Given the description of an element on the screen output the (x, y) to click on. 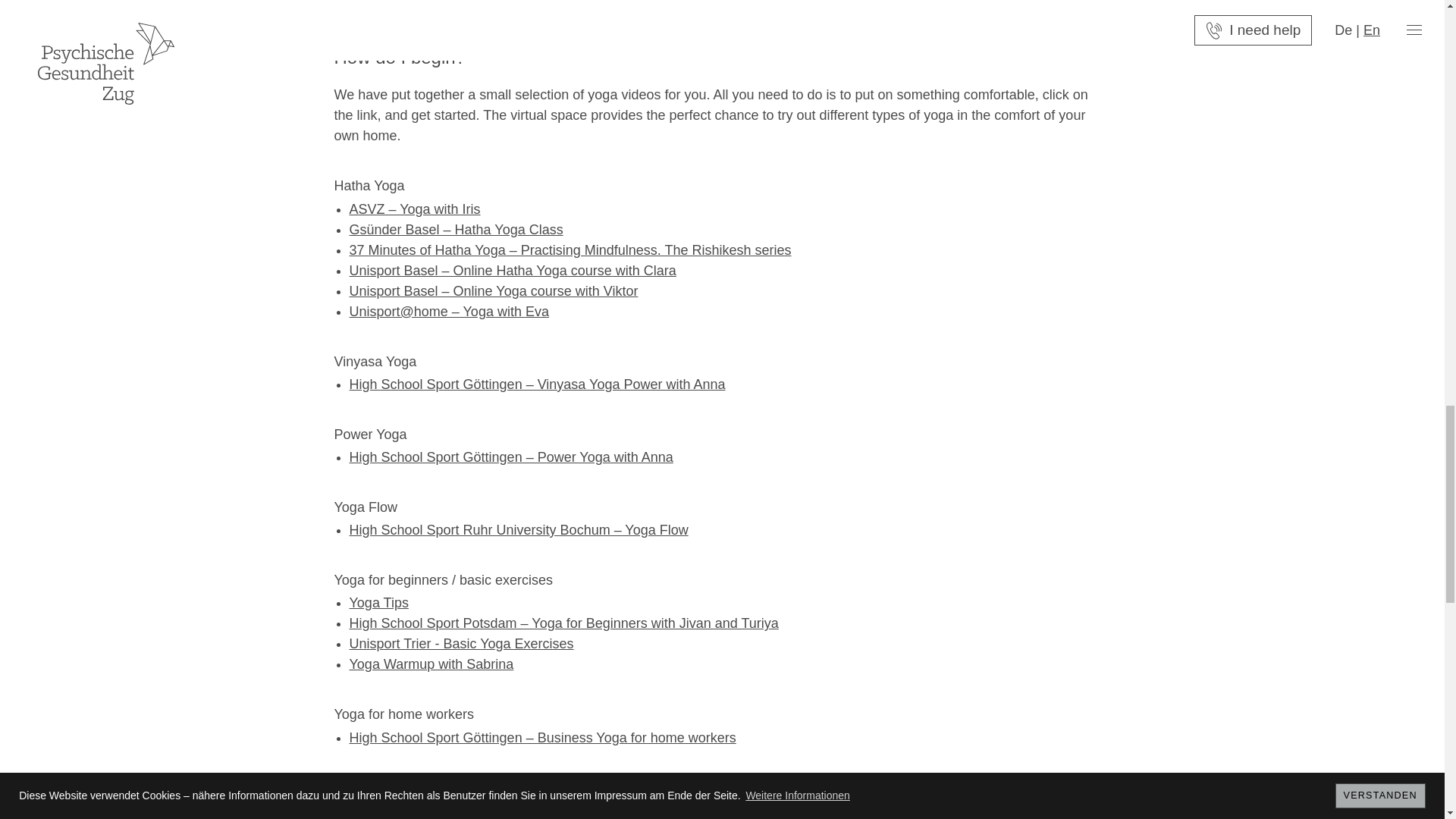
Yoga Tips (378, 602)
Unisport Trier - Basic Yoga Exercises (461, 643)
Yoga Warmup with Sabrina (431, 663)
